Given the description of an element on the screen output the (x, y) to click on. 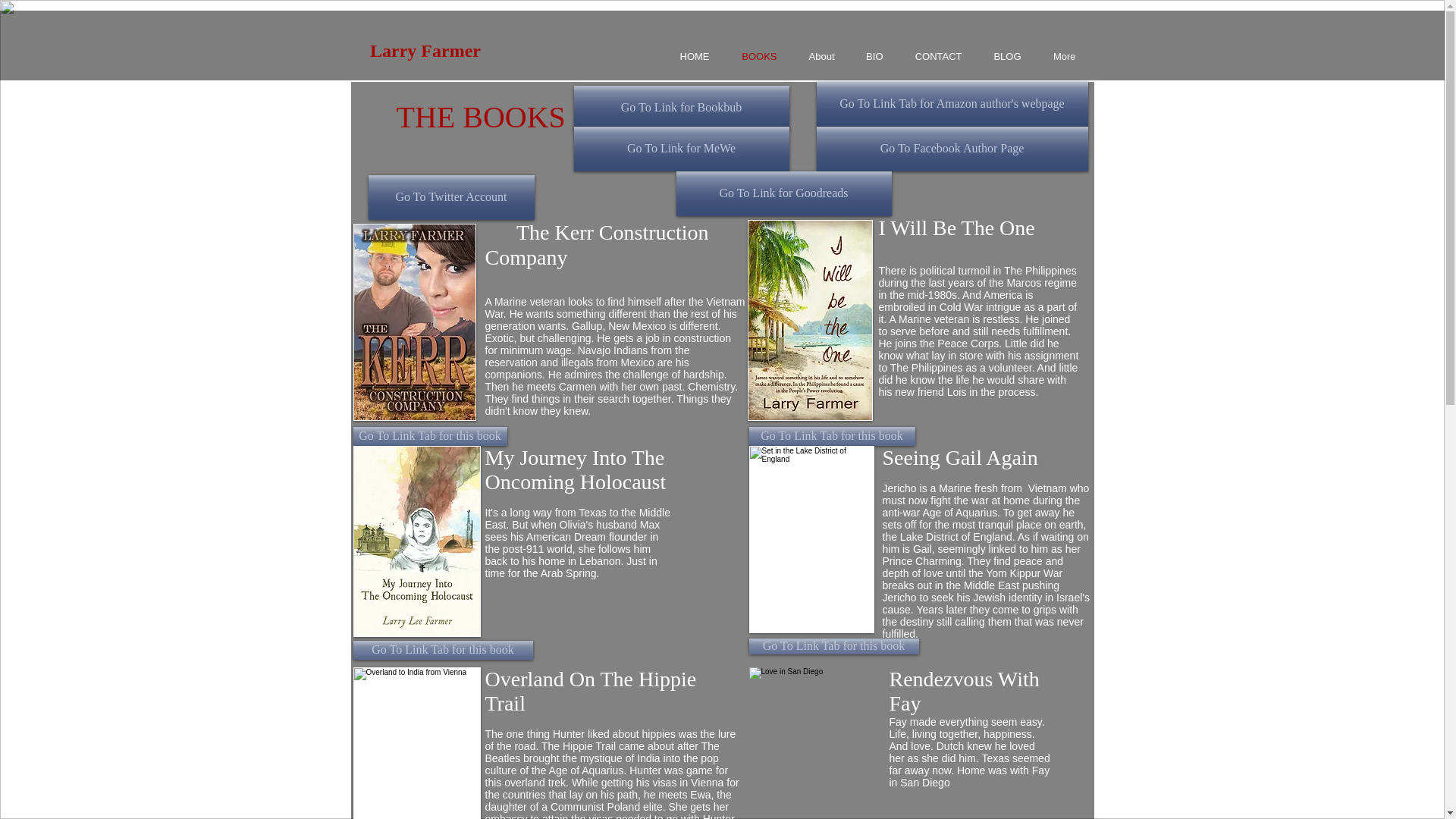
Go To Facebook Author Page (951, 148)
Go To Link Tab for Amazon author's webpage (951, 103)
CONTACT (931, 56)
Go To Twitter Account (451, 197)
HOME (686, 56)
Go To Link Tab for this book (832, 435)
About (814, 56)
Go To Link Tab for this book (429, 435)
BOOKS (750, 56)
Go To Link Tab for this book (442, 650)
